Given the description of an element on the screen output the (x, y) to click on. 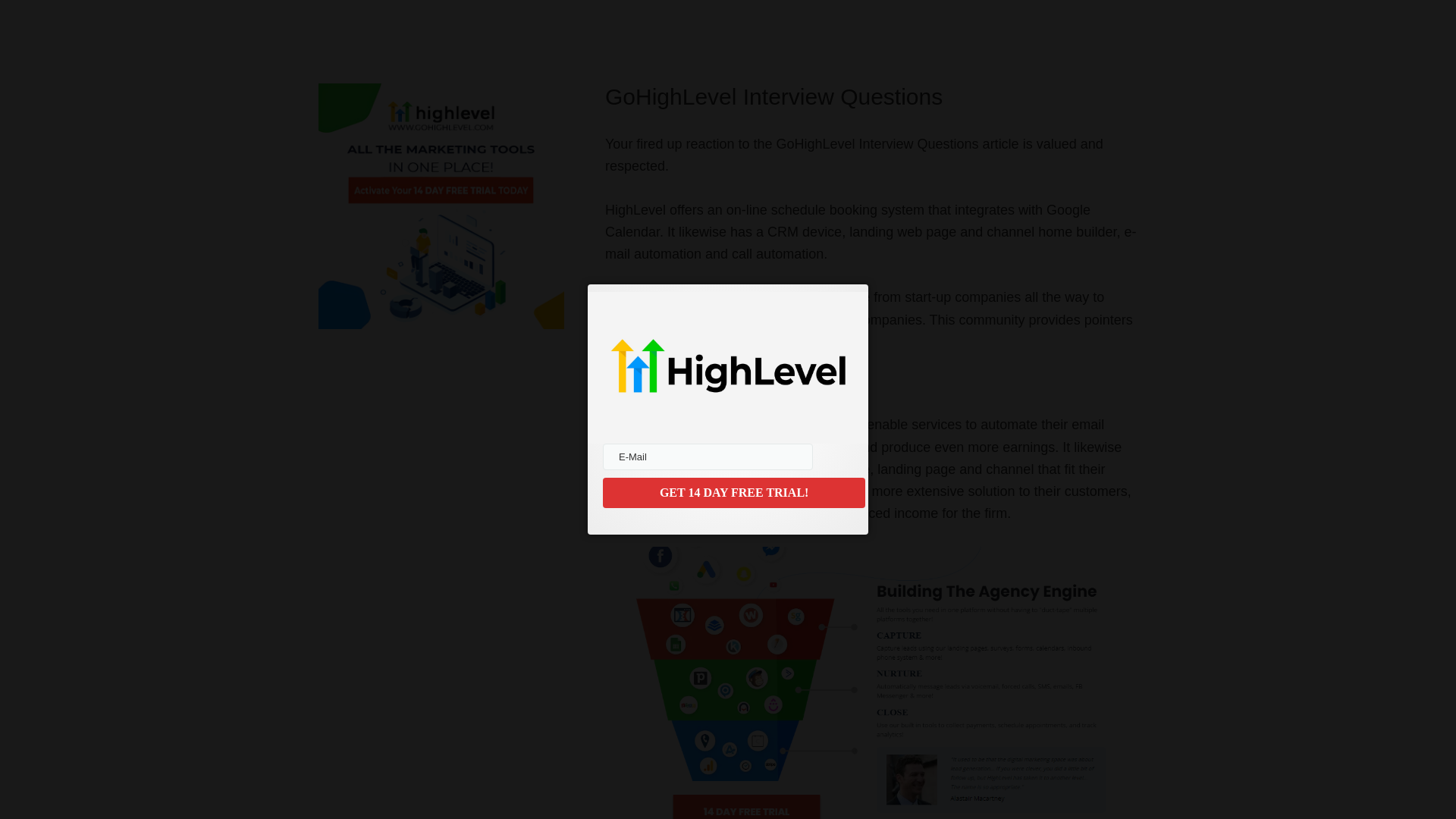
GET 14 DAY FREE TRIAL! (733, 492)
GET 14 DAY FREE TRIAL! (733, 492)
